Given the description of an element on the screen output the (x, y) to click on. 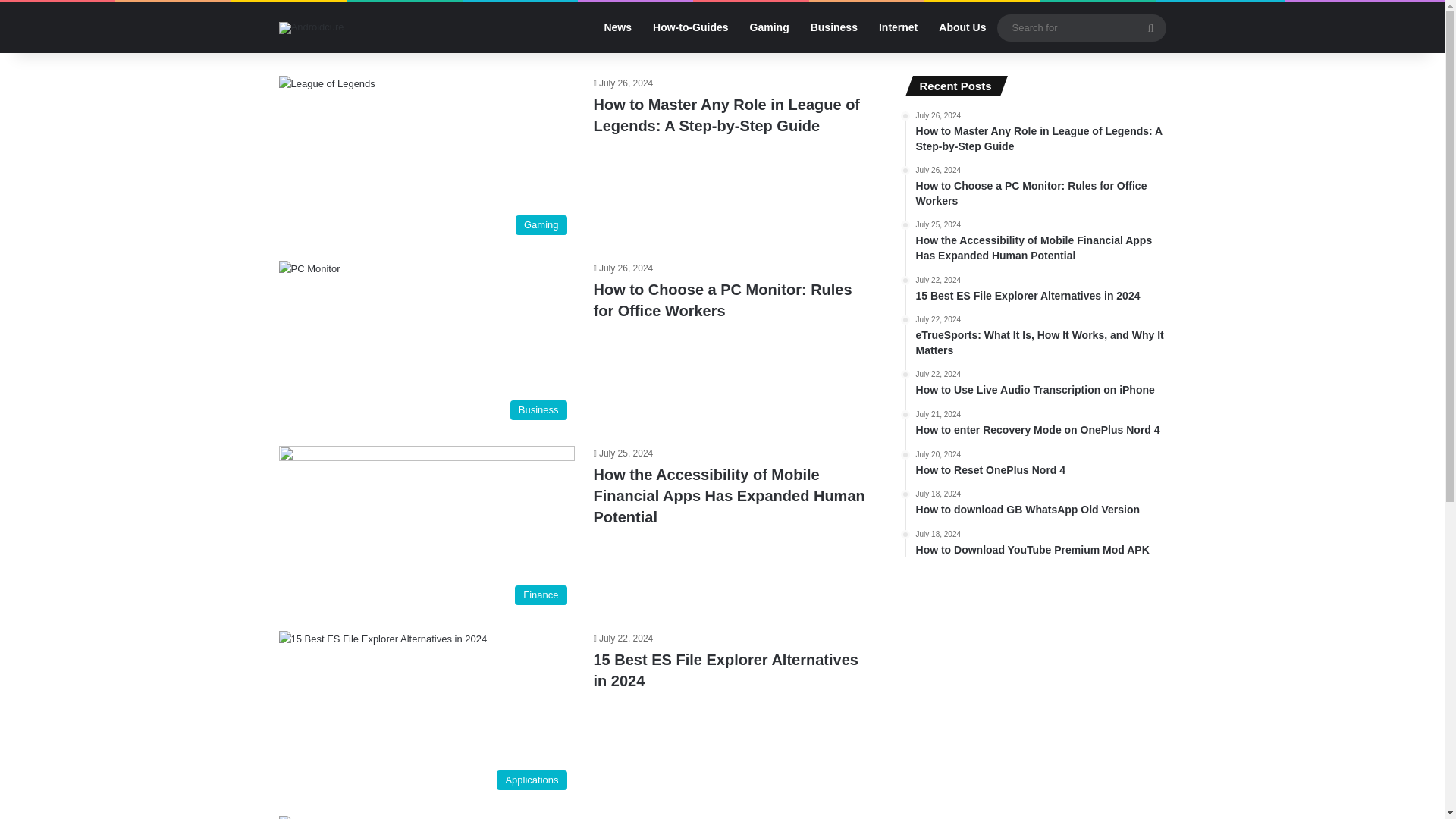
Androidcure (311, 27)
How to Choose a PC Monitor: Rules for Office Workers (721, 300)
15 Best ES File Explorer Alternatives in 2024 (724, 670)
Business (1040, 289)
Applications (833, 27)
Finance (427, 713)
Business (427, 528)
Gaming (427, 344)
How-to-Guides (769, 27)
News (690, 27)
